Given the description of an element on the screen output the (x, y) to click on. 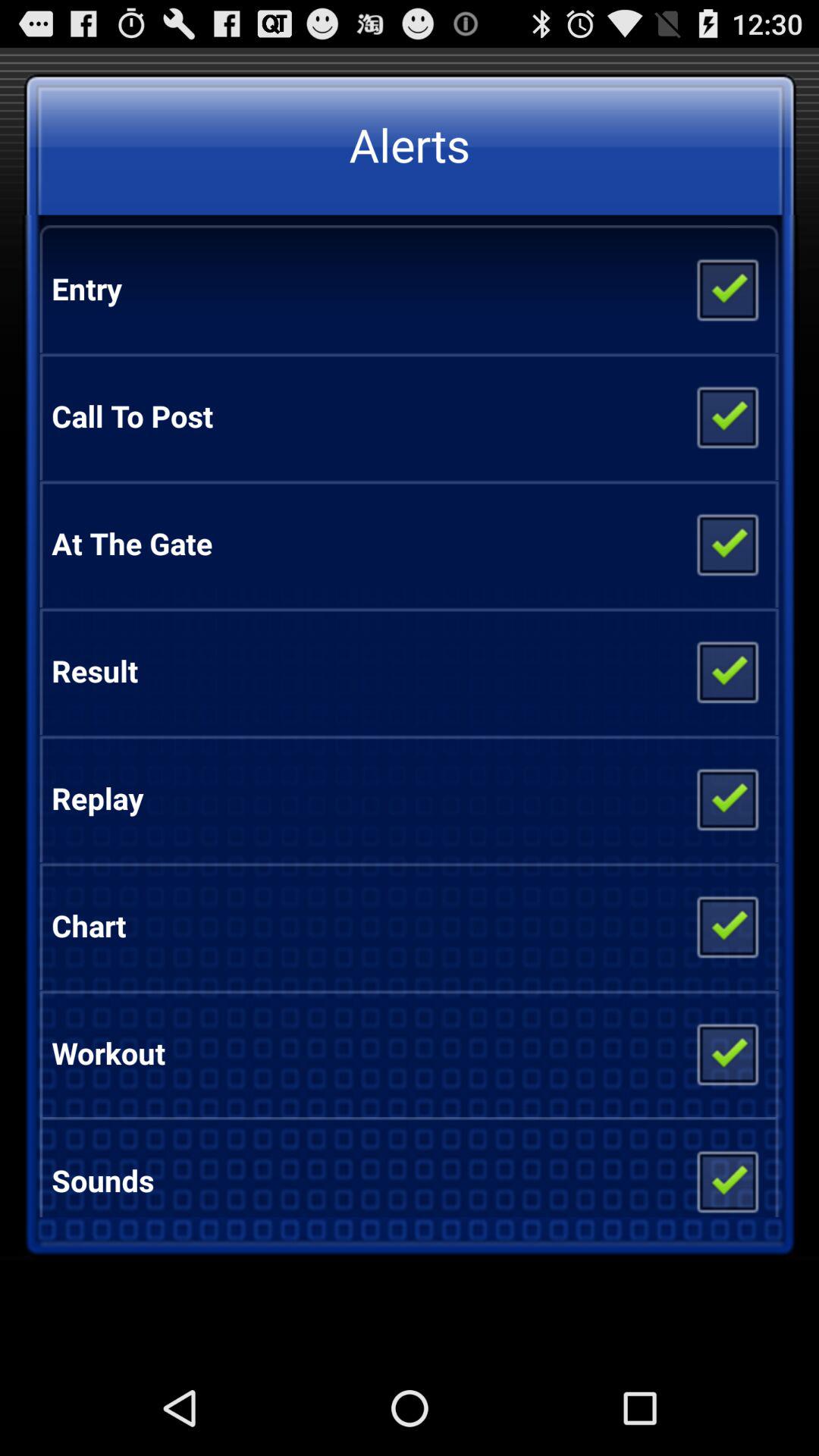
press app to the right of the result (726, 670)
